Given the description of an element on the screen output the (x, y) to click on. 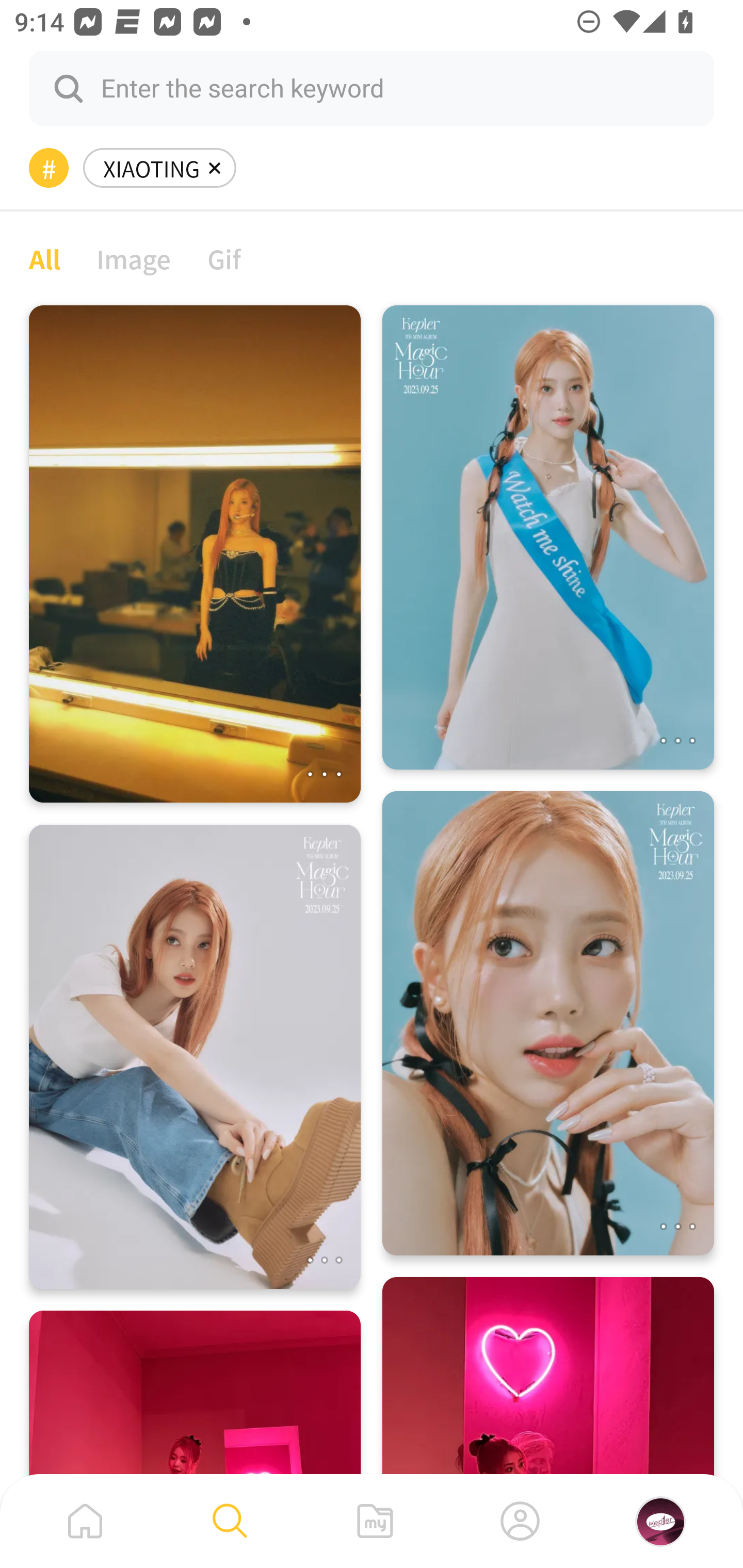
All (44, 257)
Image (133, 257)
Gif (223, 257)
